Given the description of an element on the screen output the (x, y) to click on. 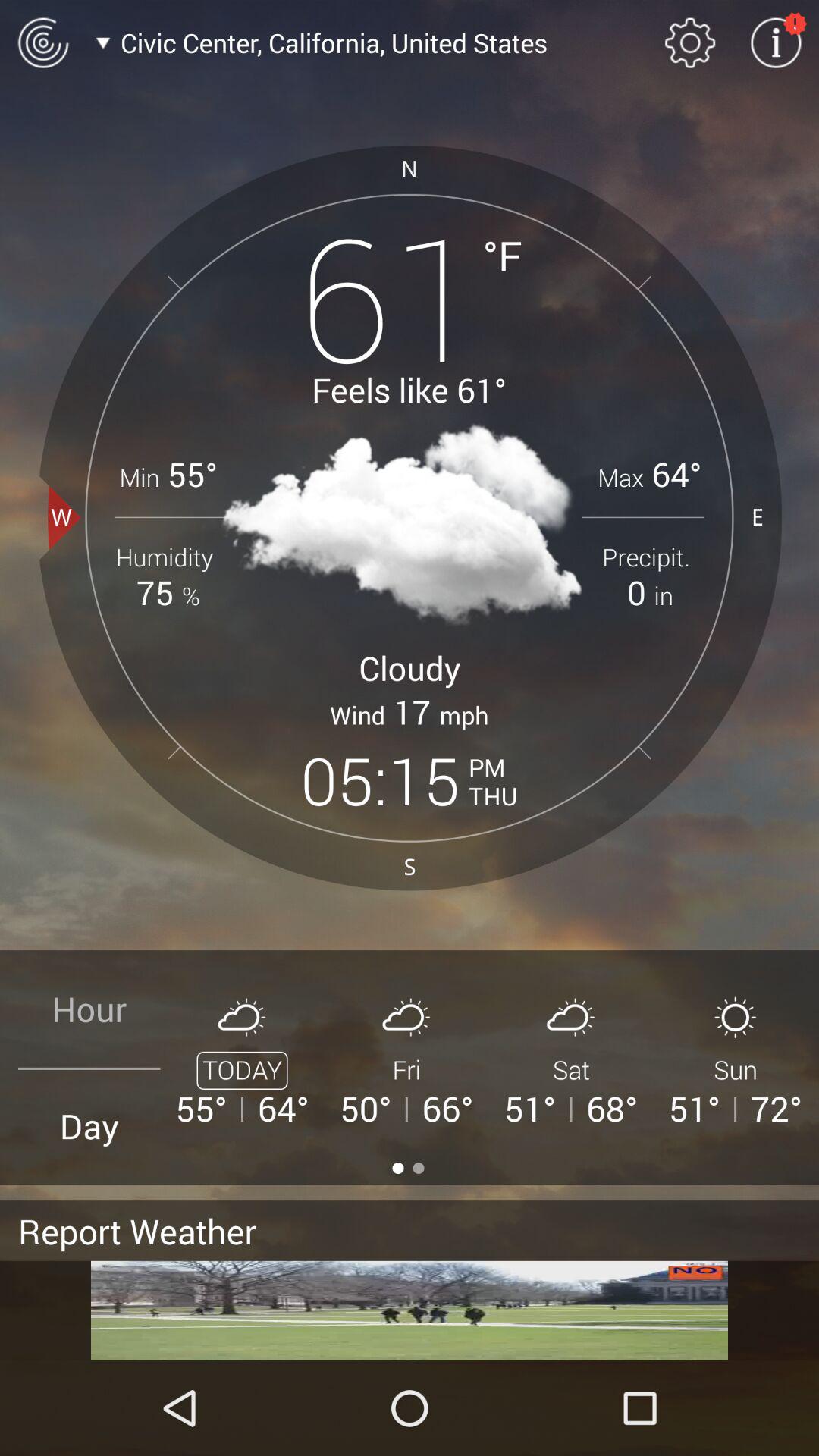
go to settings (776, 42)
